Given the description of an element on the screen output the (x, y) to click on. 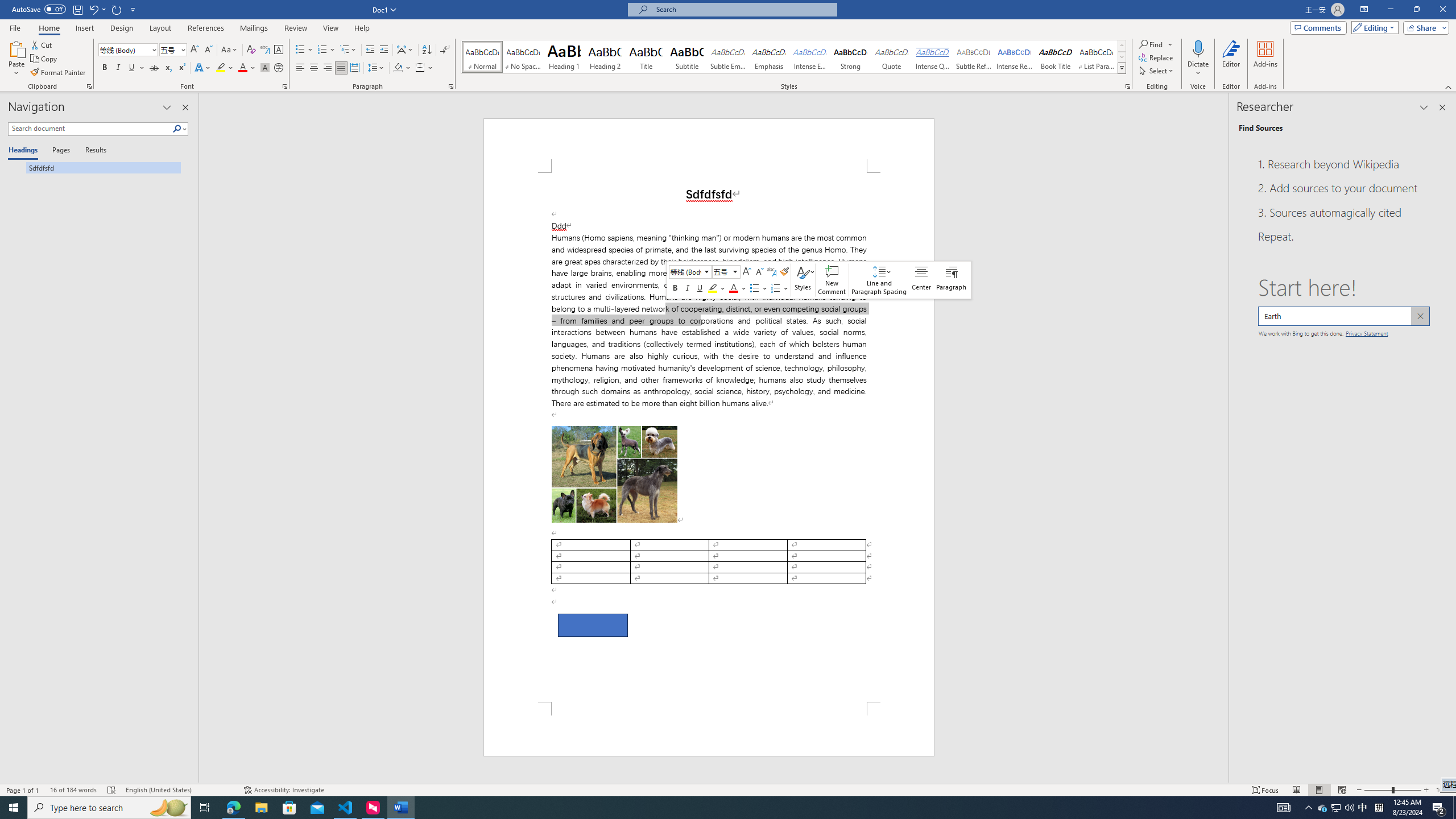
Privacy Statement (1367, 332)
Page 1 content (708, 436)
